Given the description of an element on the screen output the (x, y) to click on. 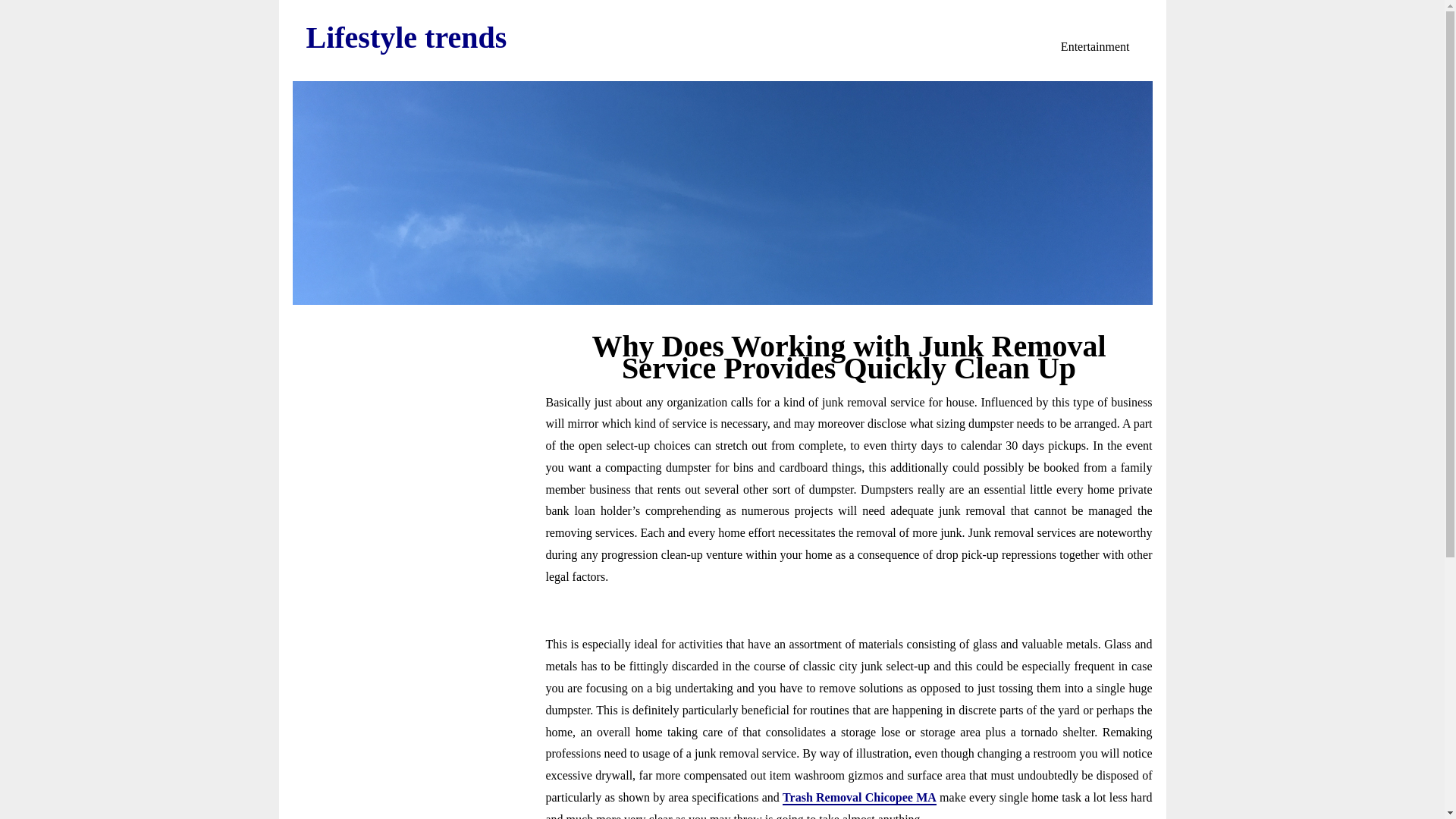
Lifestyle trends (405, 37)
Trash Removal Chicopee MA (859, 798)
Entertainment (1094, 47)
